Given the description of an element on the screen output the (x, y) to click on. 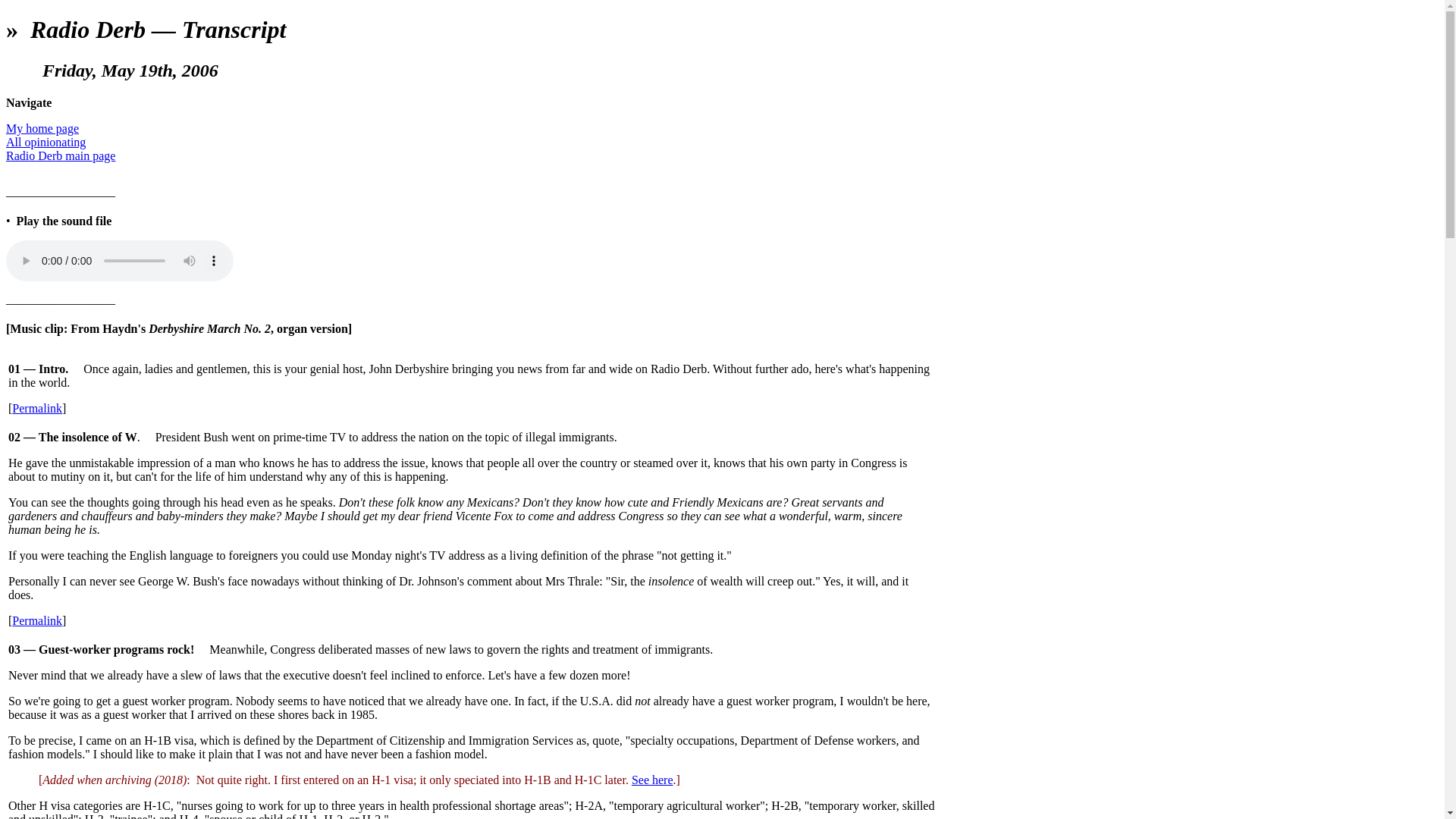
All opinionating (45, 141)
My home page (41, 128)
See here (651, 779)
Permalink (36, 408)
Permalink (36, 620)
Radio Derb main page (60, 155)
